Given the description of an element on the screen output the (x, y) to click on. 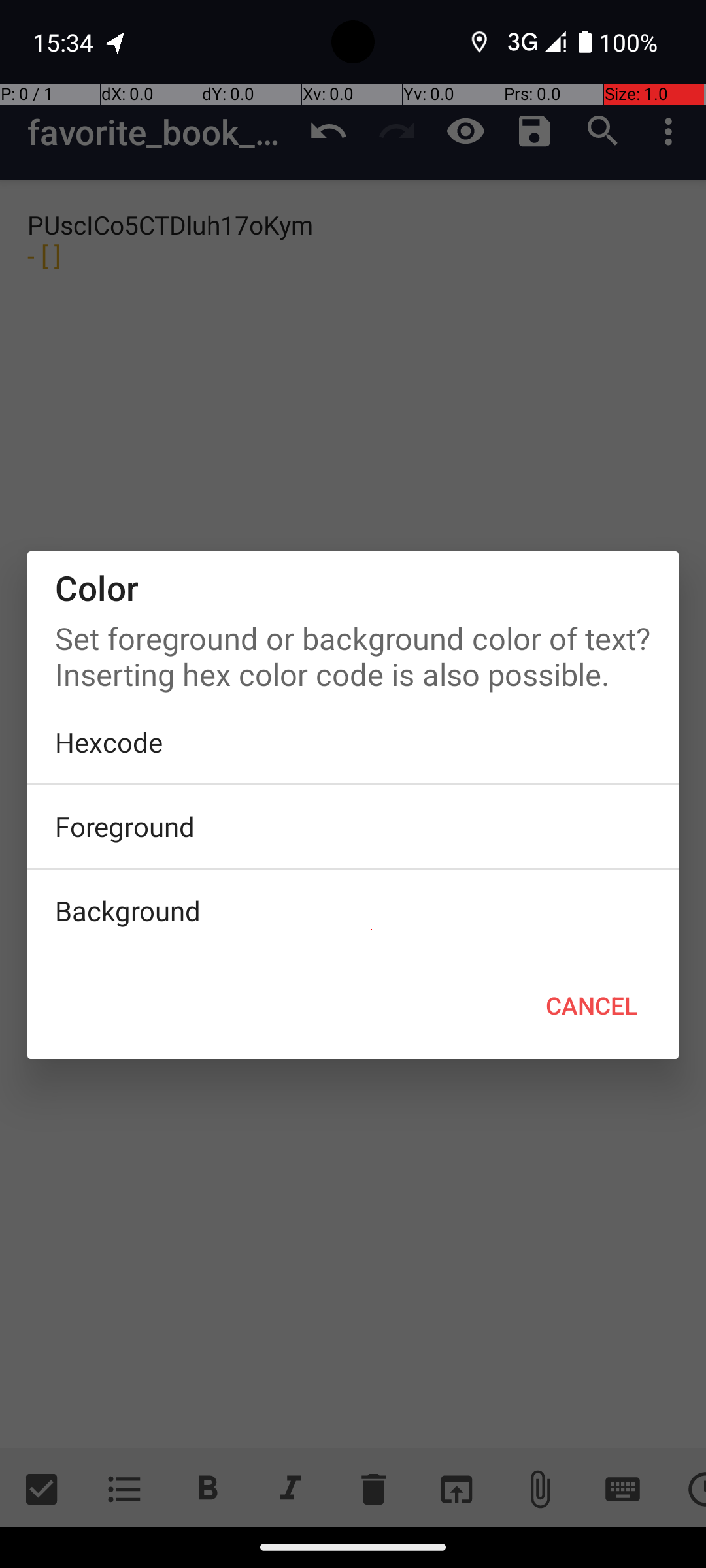
Set foreground or background color of text? Inserting hex color code is also possible. Element type: android.widget.TextView (352, 652)
Hexcode Element type: android.widget.TextView (352, 742)
Foreground Element type: android.widget.TextView (352, 826)
Background Element type: android.widget.TextView (352, 910)
